Given the description of an element on the screen output the (x, y) to click on. 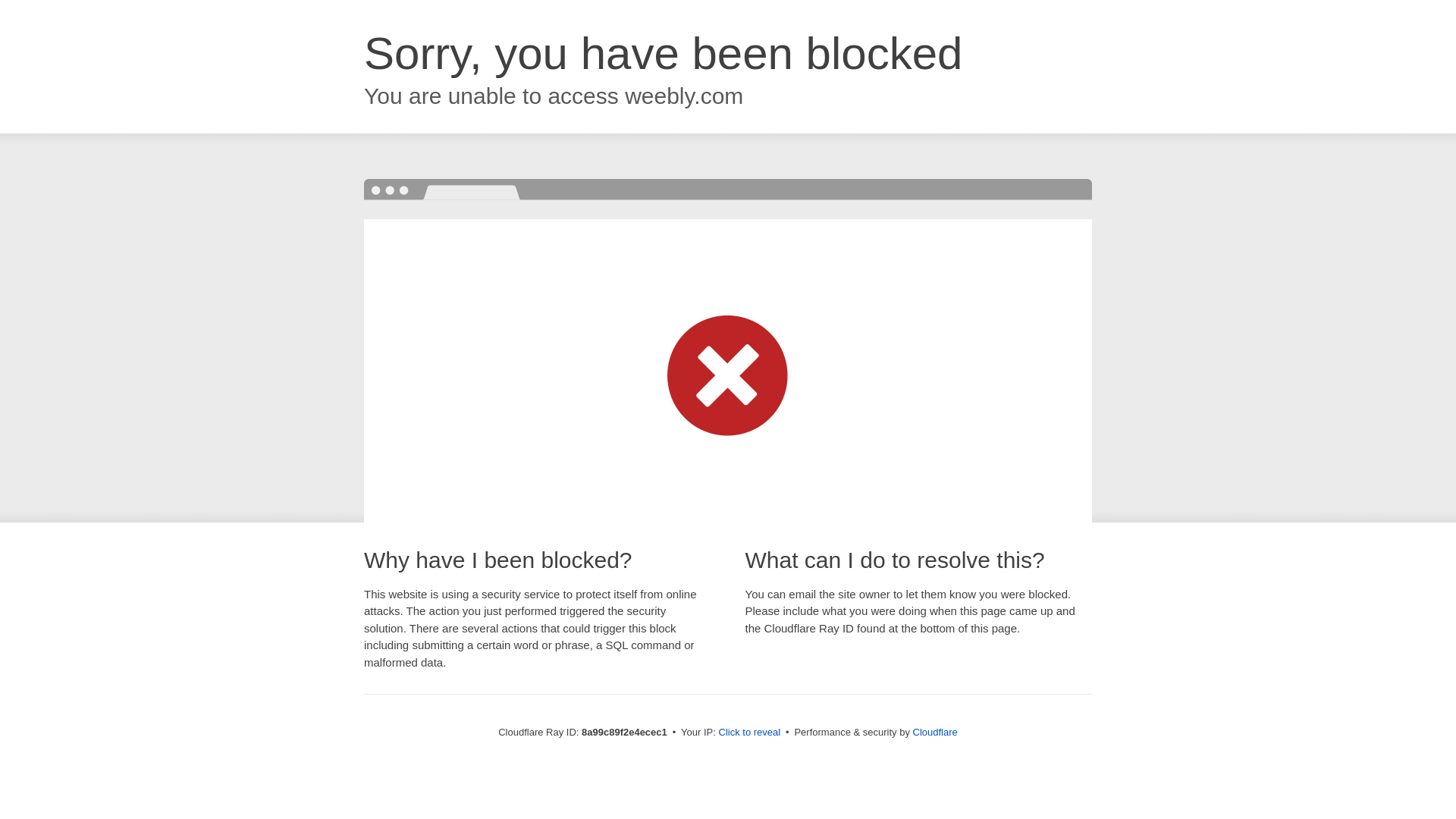
Click to reveal (749, 732)
Cloudflare (935, 731)
